Given the description of an element on the screen output the (x, y) to click on. 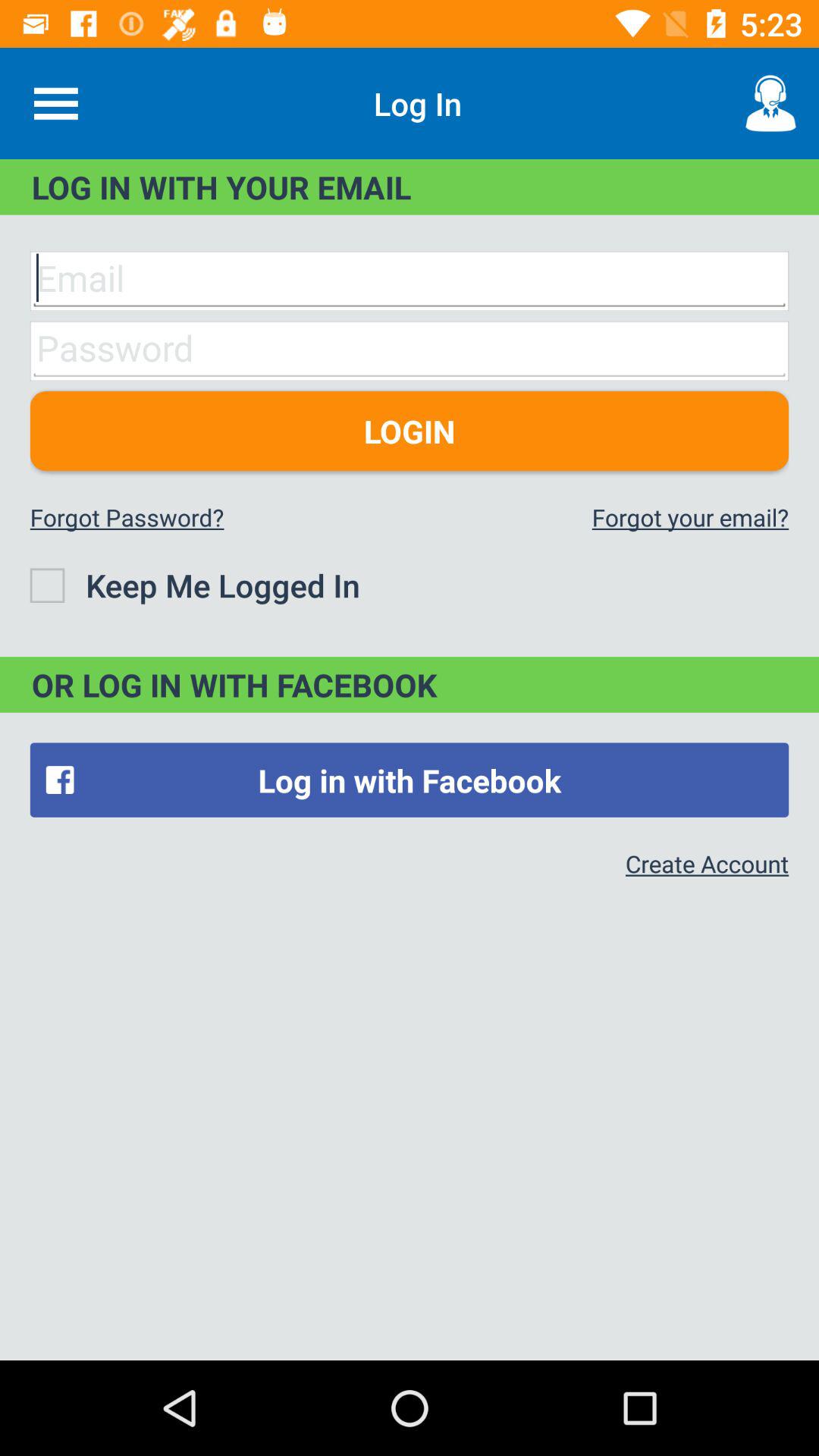
turn off the item above the log in with item (771, 103)
